Given the description of an element on the screen output the (x, y) to click on. 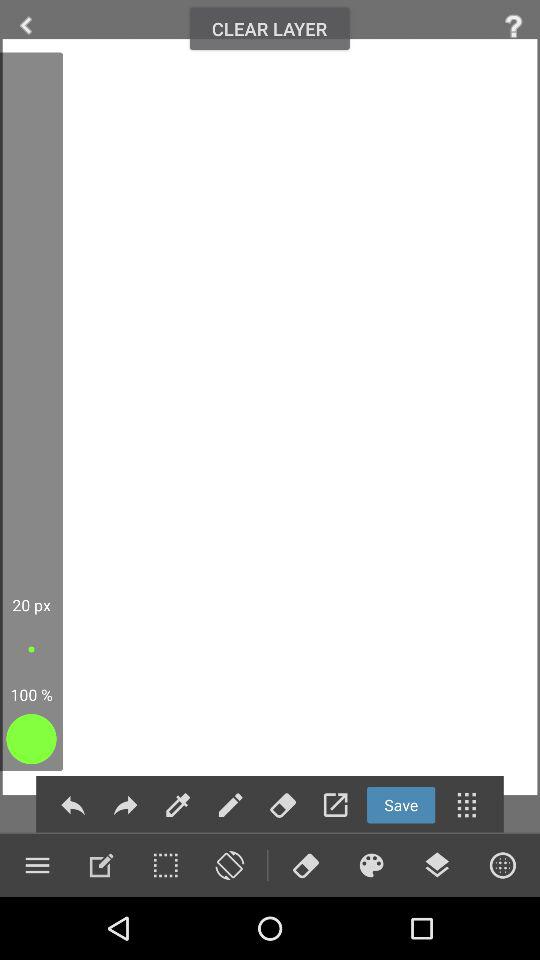
share (72, 804)
